Given the description of an element on the screen output the (x, y) to click on. 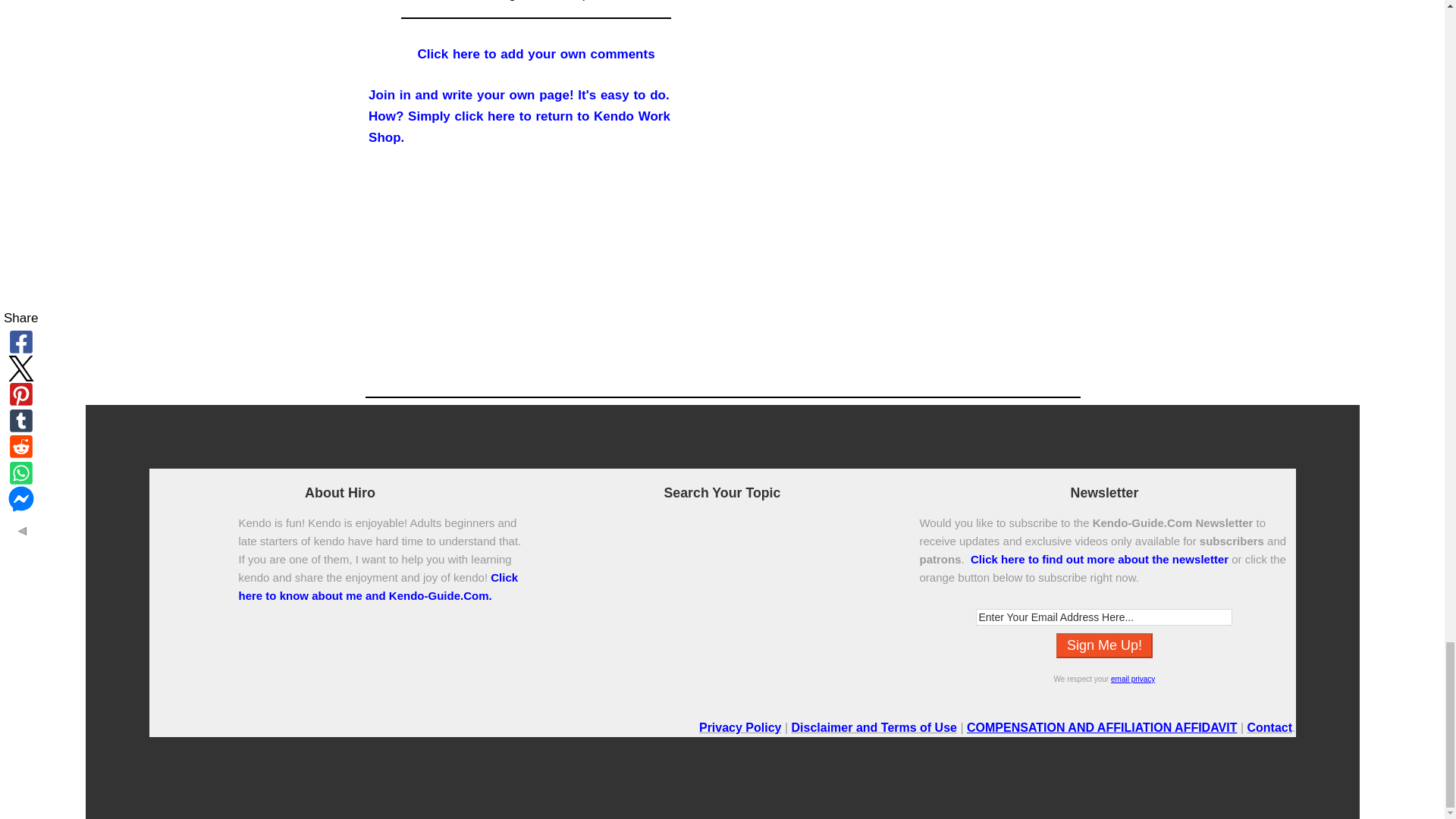
email privacy (1132, 678)
Click here to add your own comments (536, 53)
Disclaimer and Terms of Use (874, 727)
COMPENSATION AND AFFILIATION AFFIDAVIT (1101, 727)
Privacy Policy (739, 727)
Click here to know about me and Kendo-Guide.Com. (378, 585)
Sign Me Up! (1105, 645)
Sign Me Up! (1105, 645)
Privacy Policy (1132, 678)
Contact (1269, 727)
Click here to find out more about the newsletter (1099, 558)
Enter Your Email Address Here... (1103, 617)
